Given the description of an element on the screen output the (x, y) to click on. 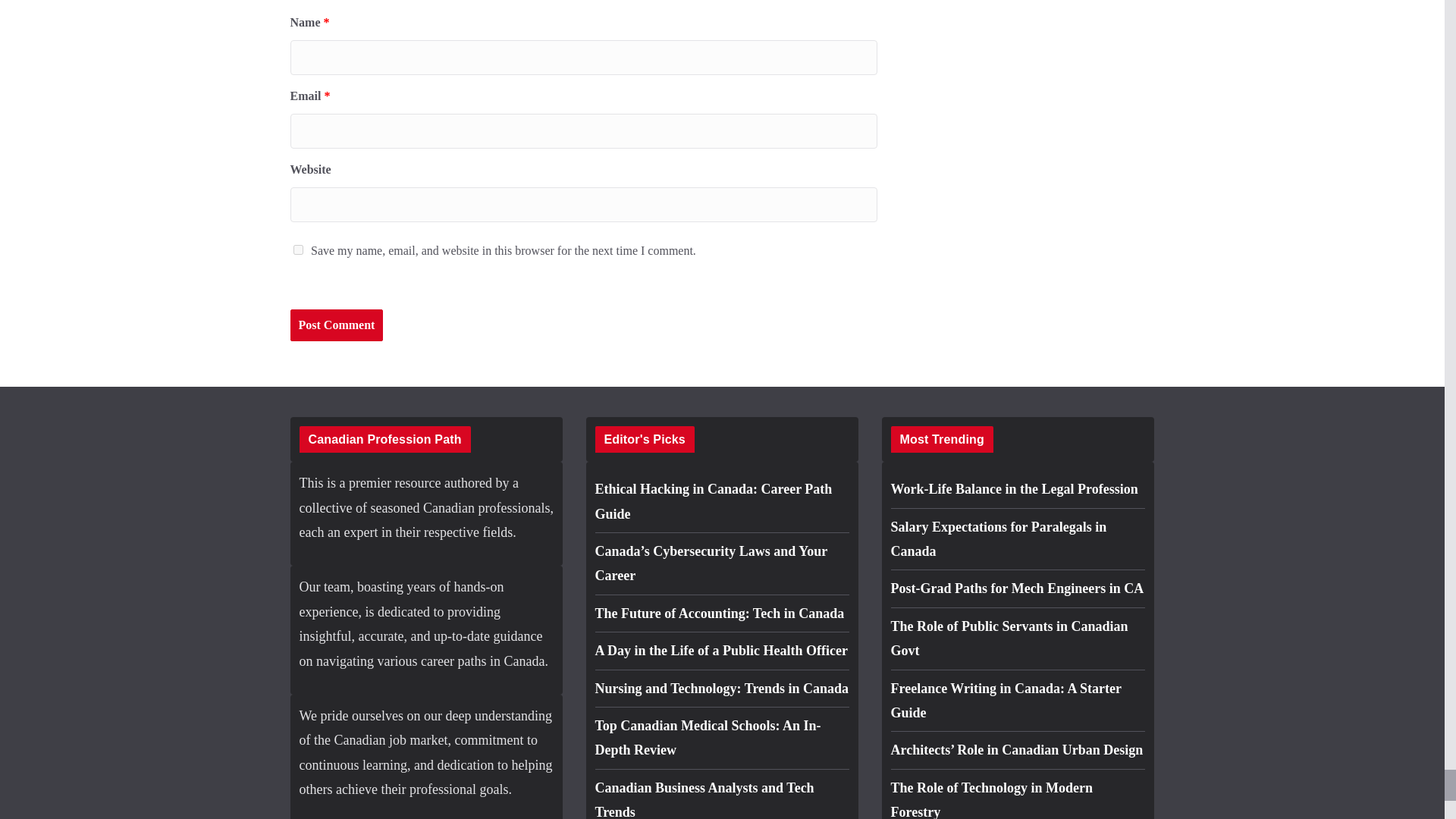
Post Comment (335, 325)
yes (297, 249)
